Given the description of an element on the screen output the (x, y) to click on. 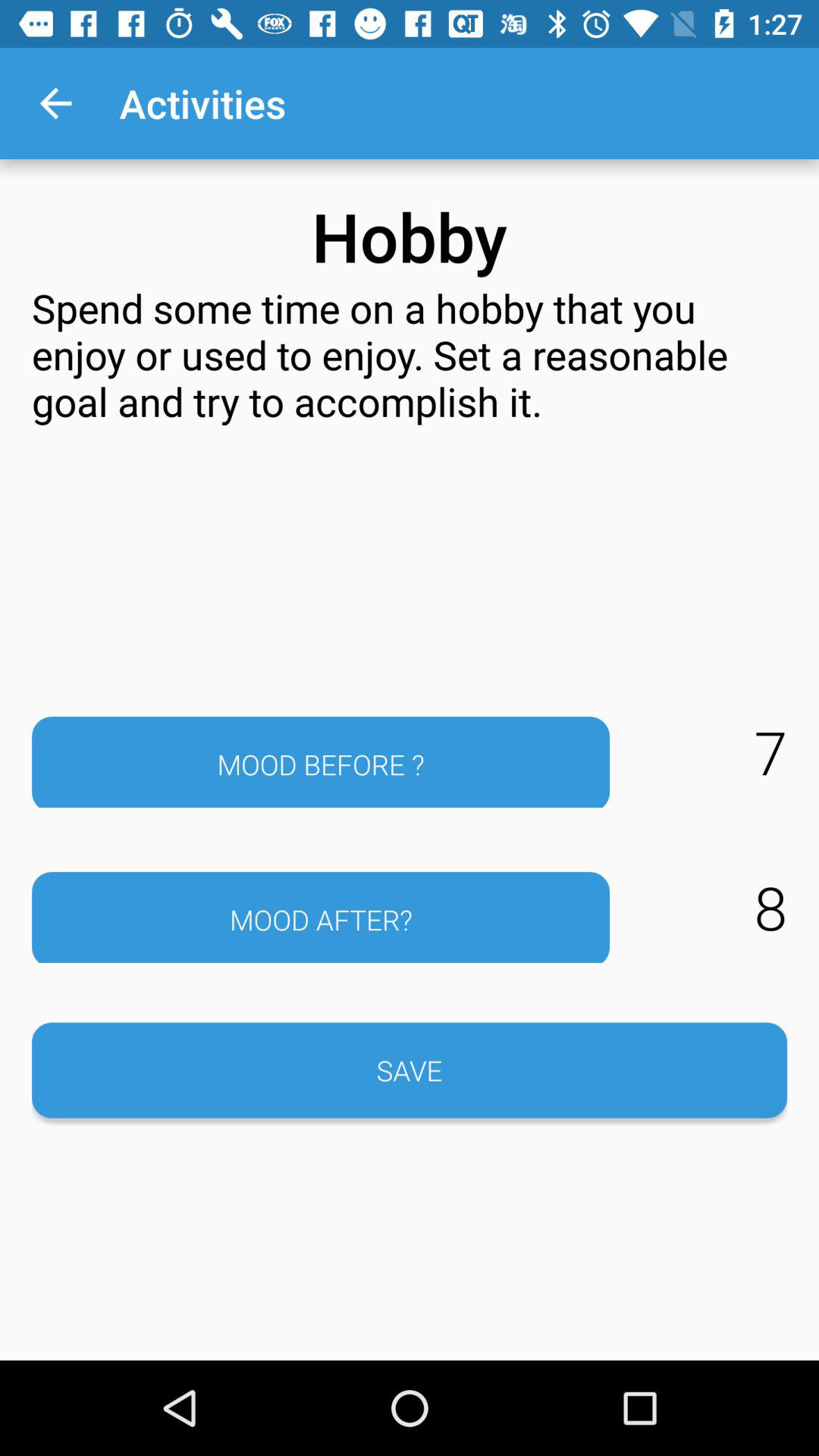
choose the save item (409, 1070)
